Given the description of an element on the screen output the (x, y) to click on. 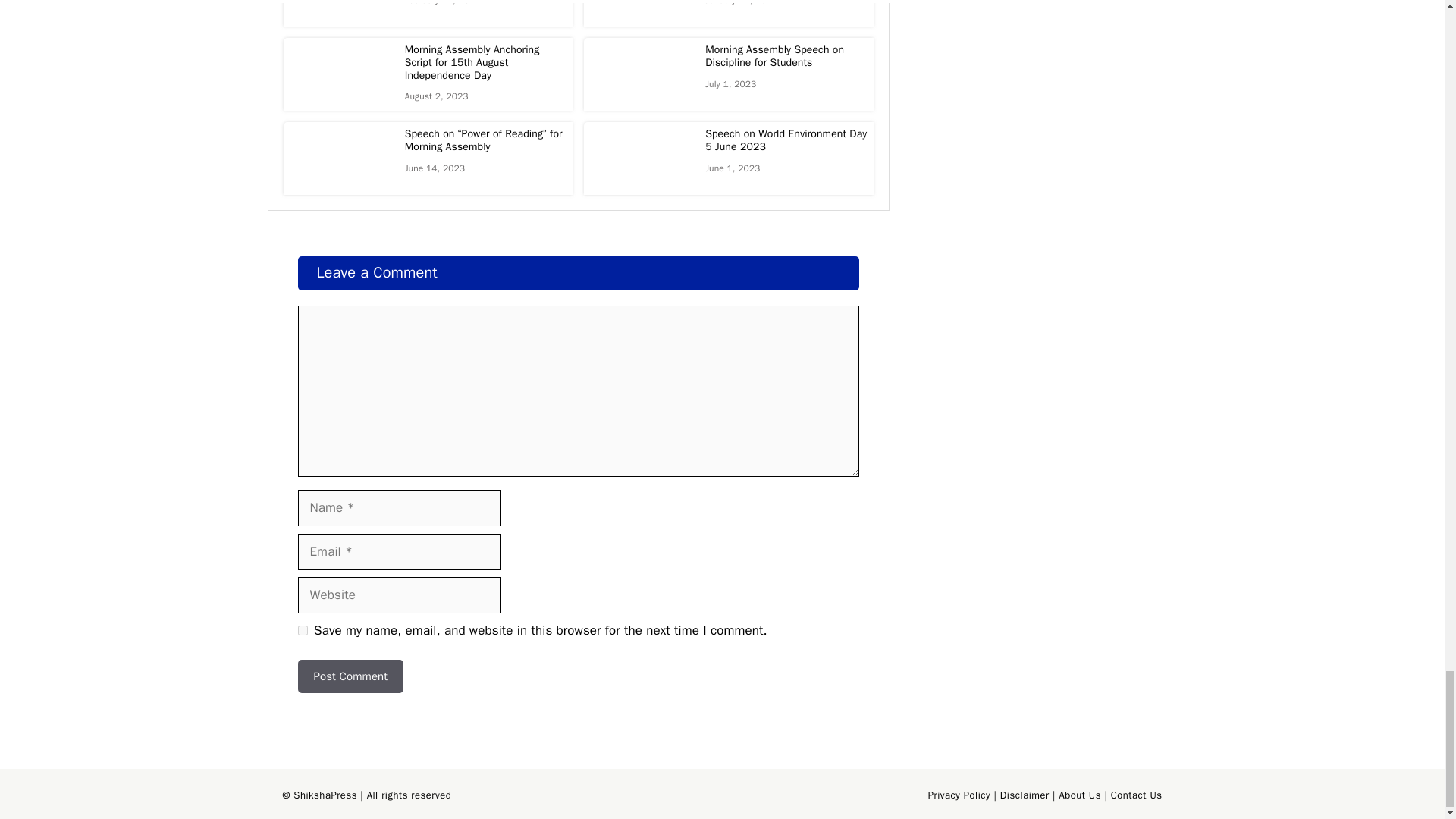
yes (302, 630)
Post Comment (350, 676)
